Given the description of an element on the screen output the (x, y) to click on. 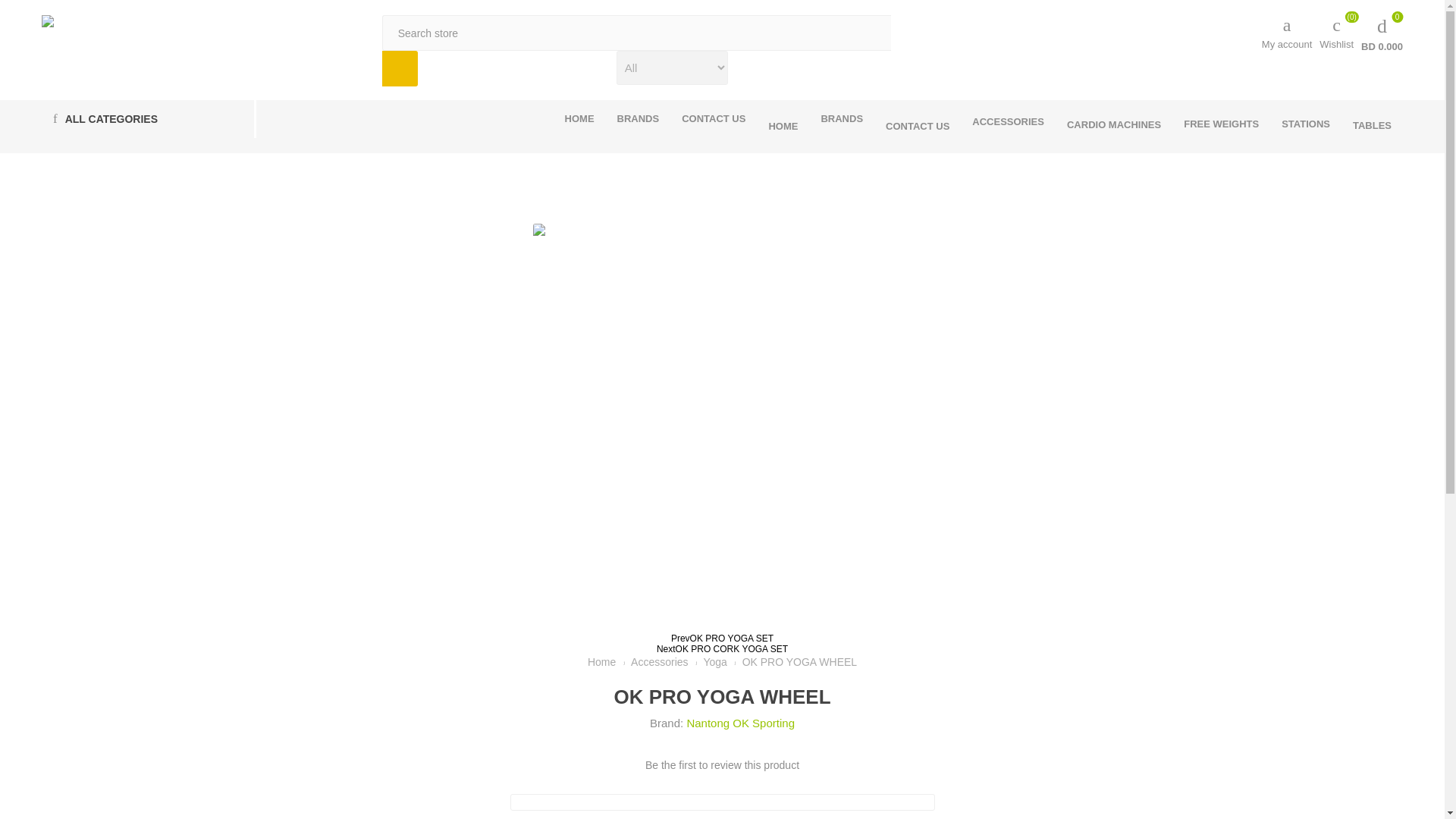
Search (399, 68)
HOME (783, 126)
Search (399, 68)
Brands (842, 118)
Home (783, 126)
Athletics (47, 21)
Search (1382, 33)
Picture for category Body Solid (399, 68)
My account (842, 118)
